Given the description of an element on the screen output the (x, y) to click on. 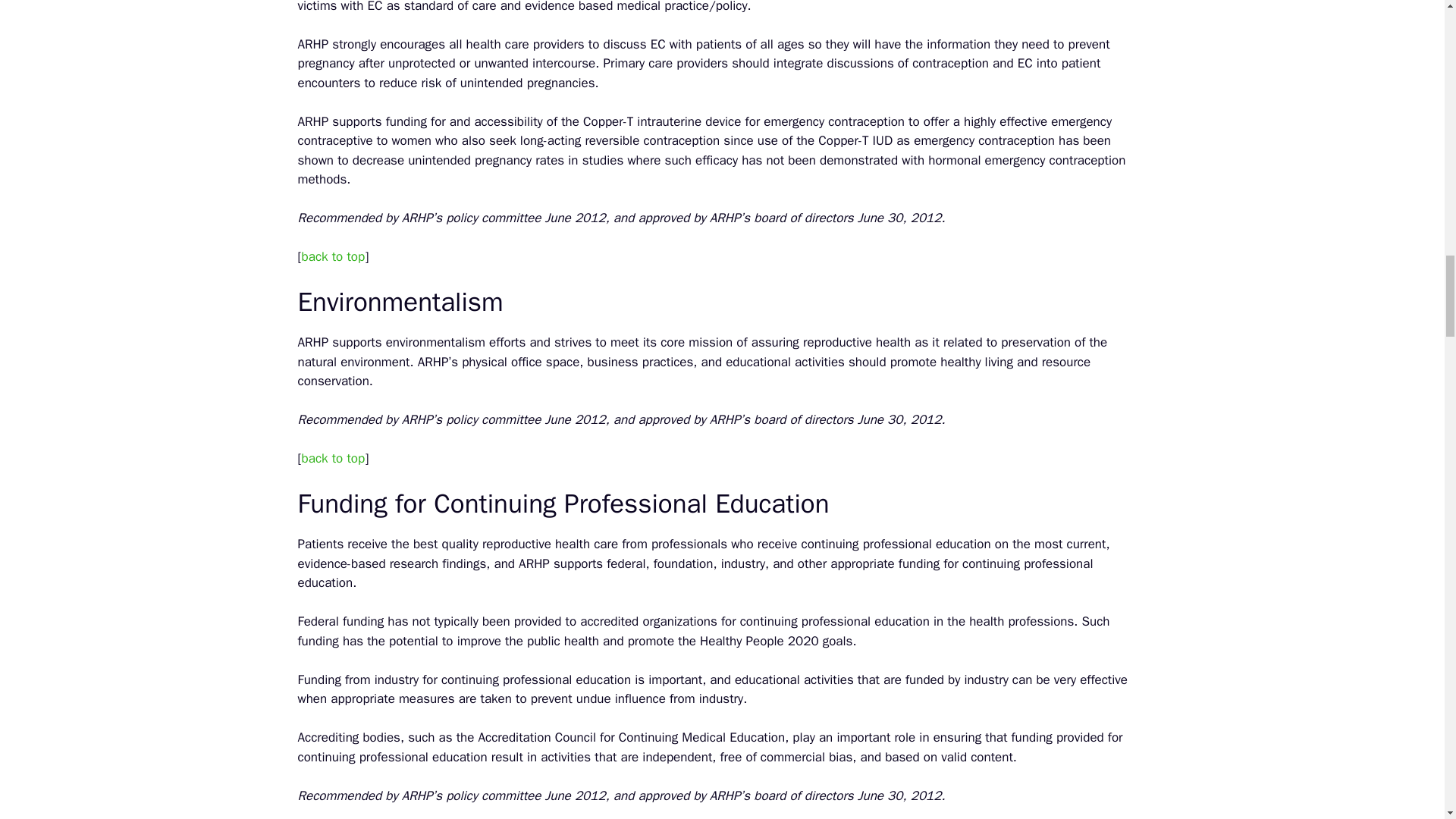
back to top (333, 256)
back to top (333, 458)
